Given the description of an element on the screen output the (x, y) to click on. 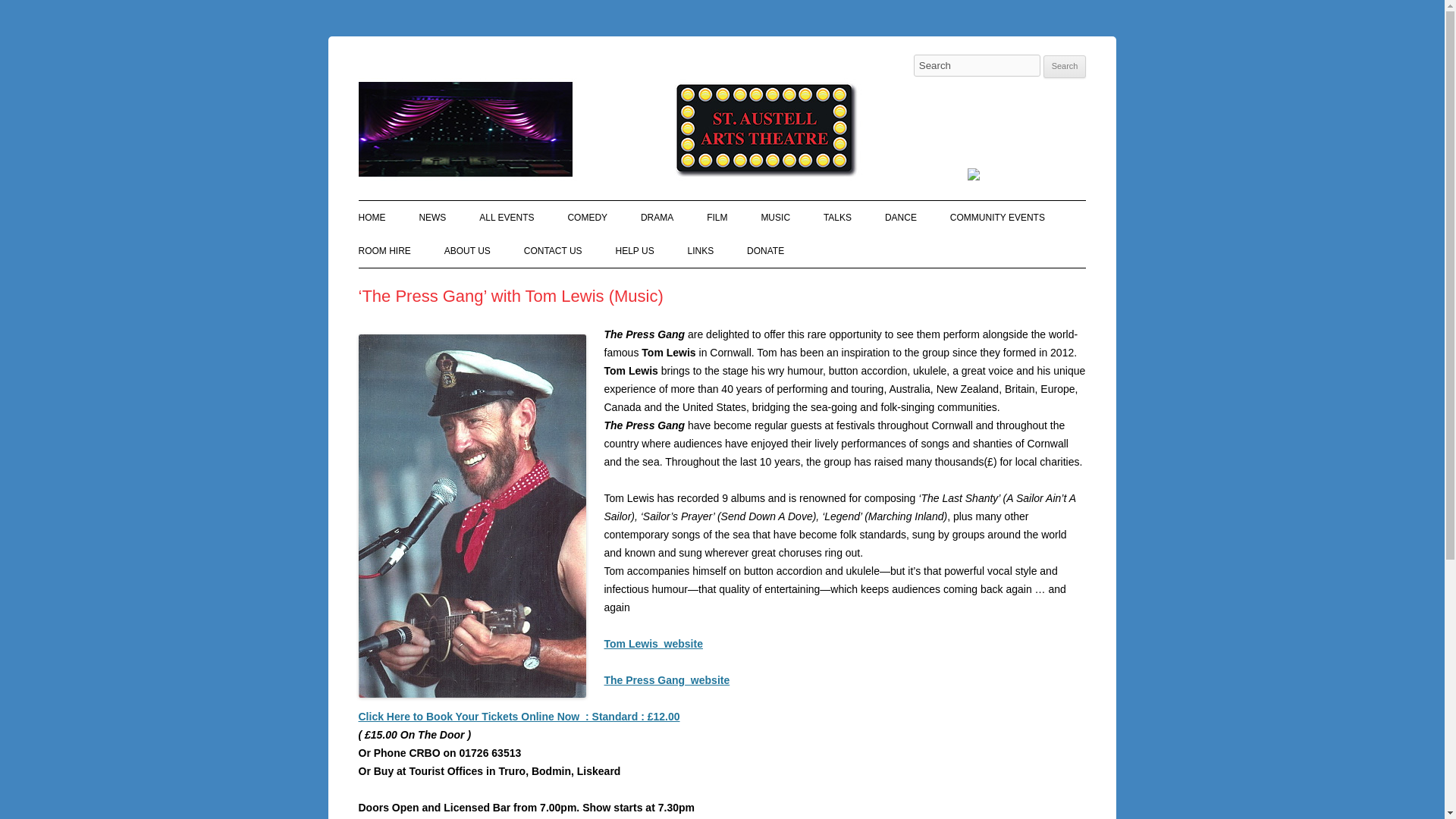
HELP US (634, 250)
Search (1064, 66)
CONTACT US (553, 250)
ALL EVENTS (506, 217)
DRAMA (656, 217)
COMEDY (587, 217)
VOLUNTEER (691, 282)
St Austell Arts Centre (459, 72)
